Given the description of an element on the screen output the (x, y) to click on. 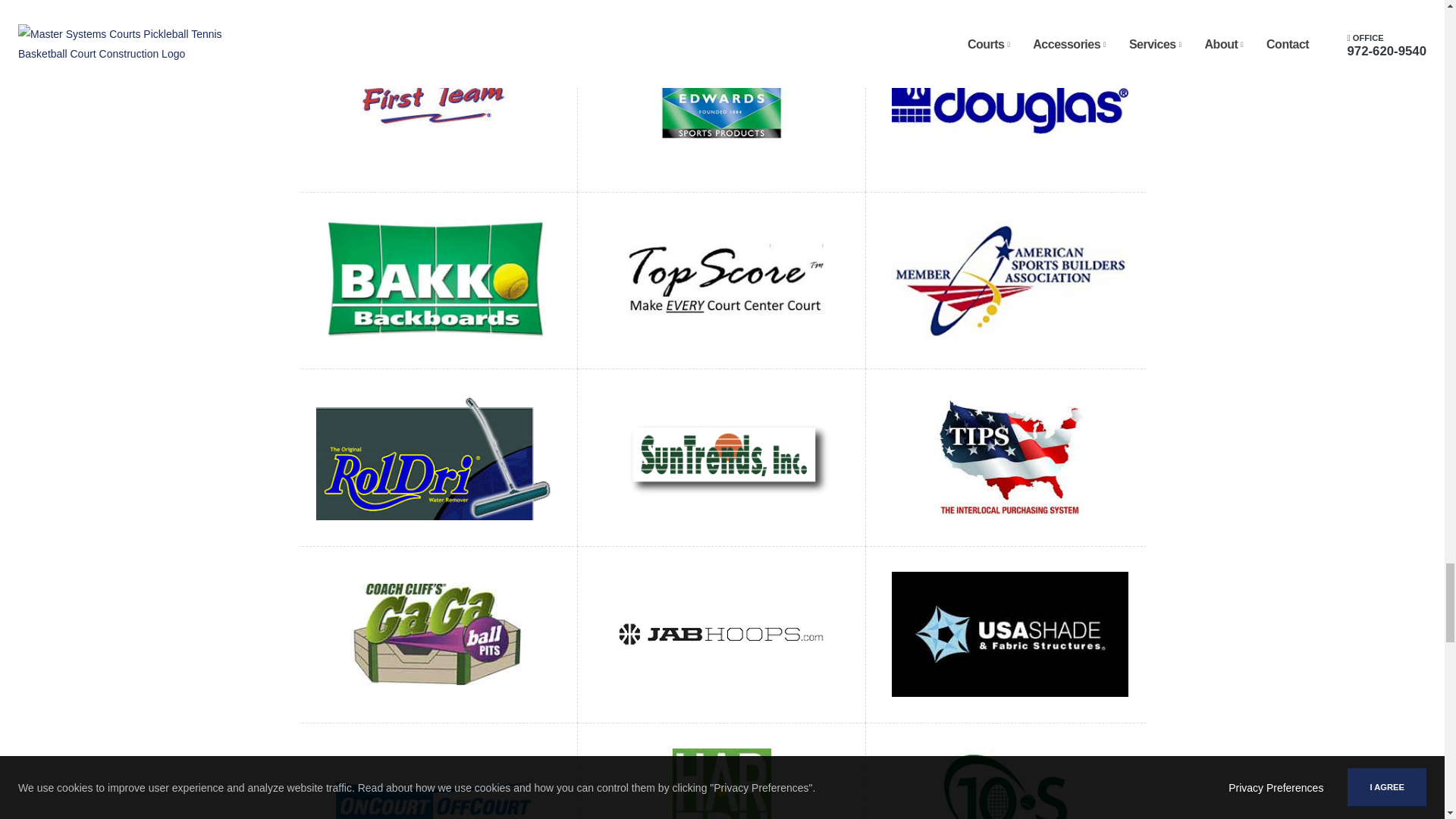
USA Shade (1009, 633)
Our Business Partner Edwards Sports UK (722, 102)
Gaga Ball Pits (433, 633)
Our Business Partner RolDri Water Removal Equipment (433, 456)
10 S Tennis Equipment (1009, 809)
Our Business Partner First Team Basketball Equipment (433, 102)
Our Business Partner Top Score Tennis Digital Scoreboards (722, 279)
Our Business Partner Sun Trends Benches and Shades (722, 456)
Har Tru Partner (722, 809)
Our Business Partner ASBA (1009, 279)
Our Business Partner Douglas Sports Tennis Accessories (1009, 102)
JabHoops (722, 633)
Our Business Partner Bakko Basketball Backboards (433, 279)
On Court Off Court Tennis Training Aids (433, 809)
